Given the description of an element on the screen output the (x, y) to click on. 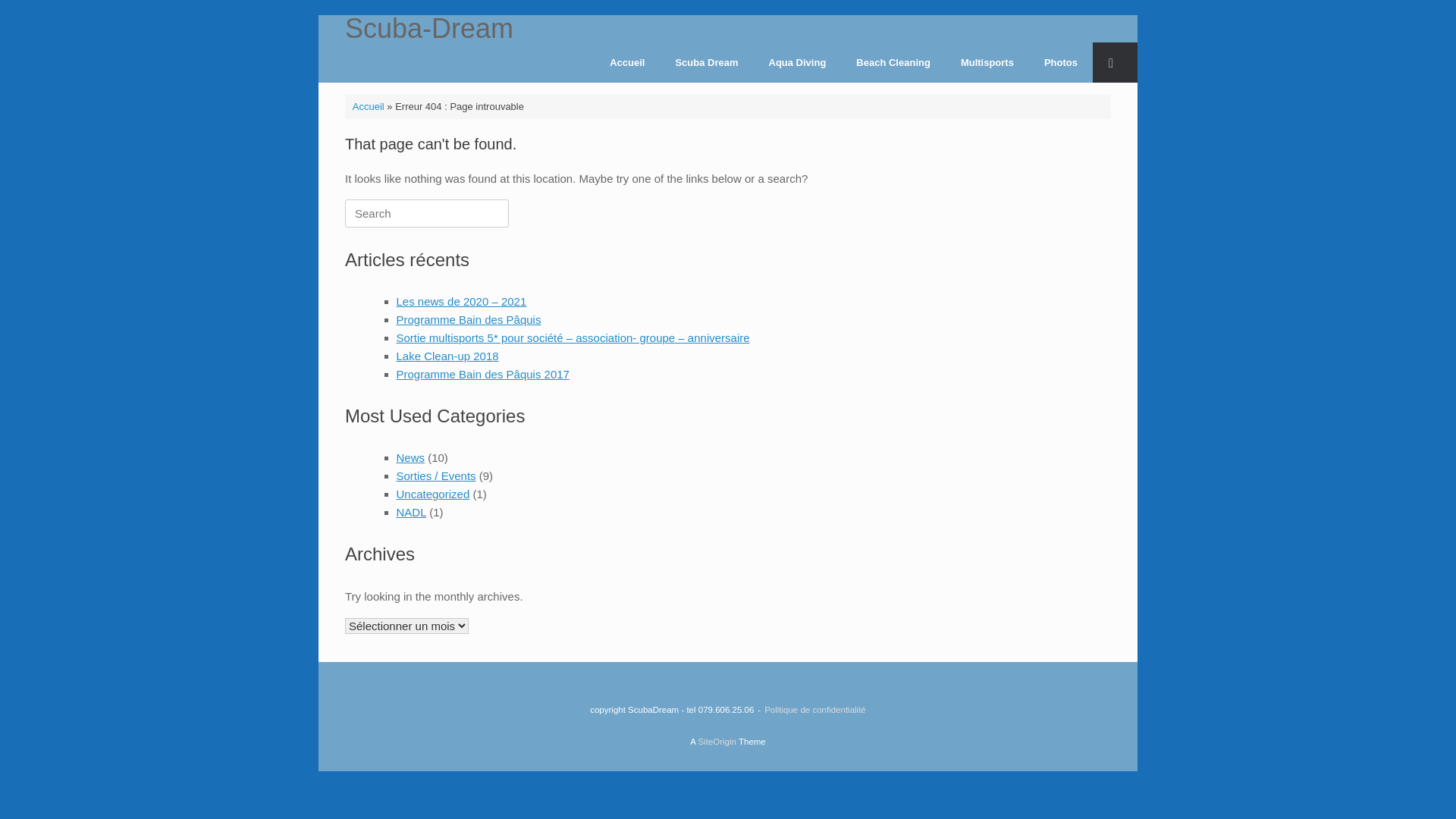
Sorties / Events Element type: text (435, 475)
Accueil Element type: text (368, 105)
News Element type: text (409, 457)
Multisports Element type: text (987, 62)
Scuba Dream Element type: text (706, 62)
Uncategorized Element type: text (432, 493)
Beach Cleaning Element type: text (892, 62)
Lake Clean-up 2018 Element type: text (446, 355)
Photos Element type: text (1060, 62)
Aqua Diving Element type: text (797, 62)
Skip to content Element type: text (317, 14)
NADL Element type: text (410, 511)
Scuba-Dream Element type: text (429, 28)
SiteOrigin Element type: text (716, 741)
Accueil Element type: text (626, 62)
